Given the description of an element on the screen output the (x, y) to click on. 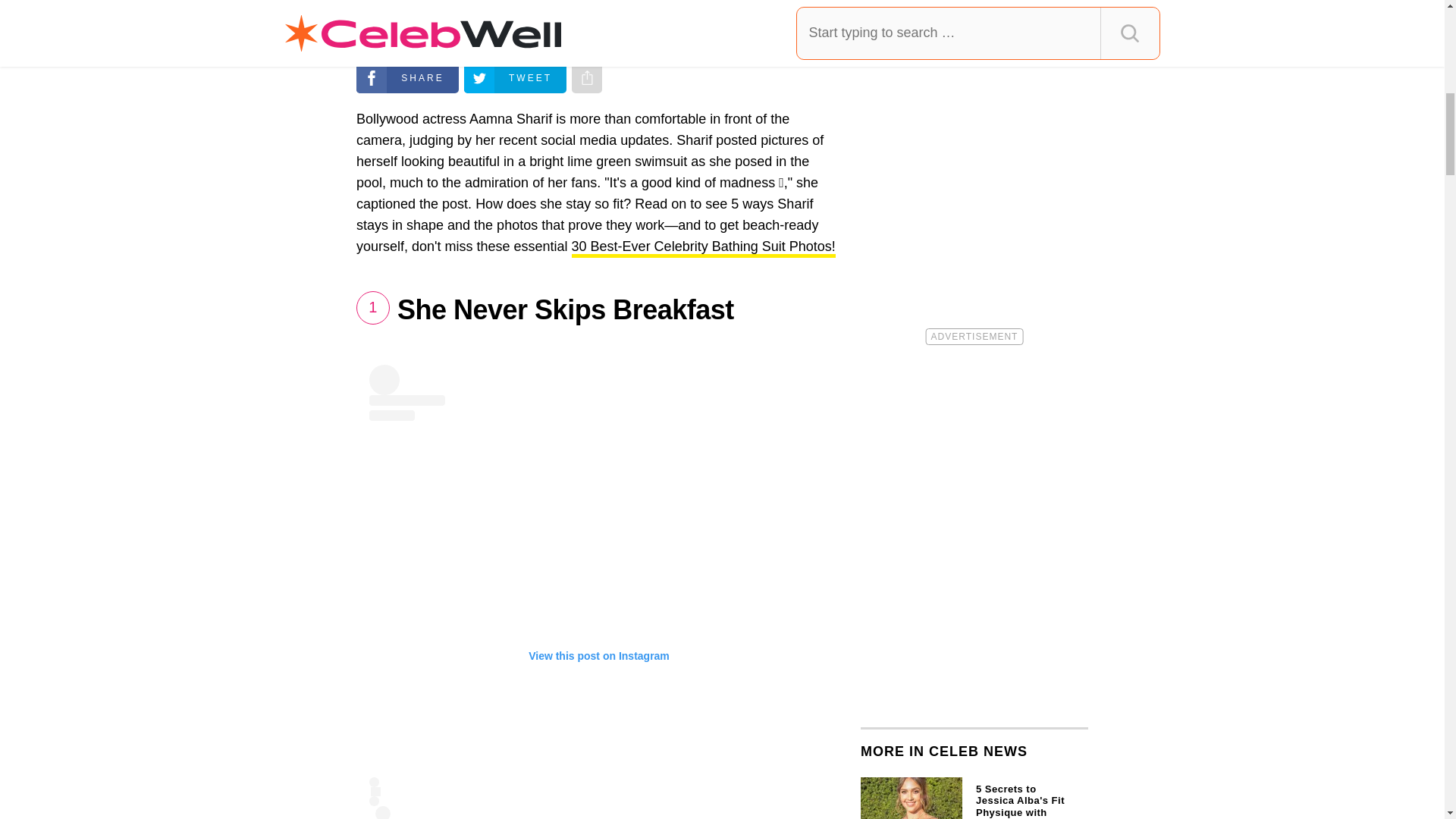
Facebook (407, 78)
Share on Twitter (515, 78)
Twitter (515, 78)
30 Best-Ever Celebrity Bathing Suit Photos! (703, 248)
Share on Facebook (407, 78)
Share via e-mail (587, 78)
